Given the description of an element on the screen output the (x, y) to click on. 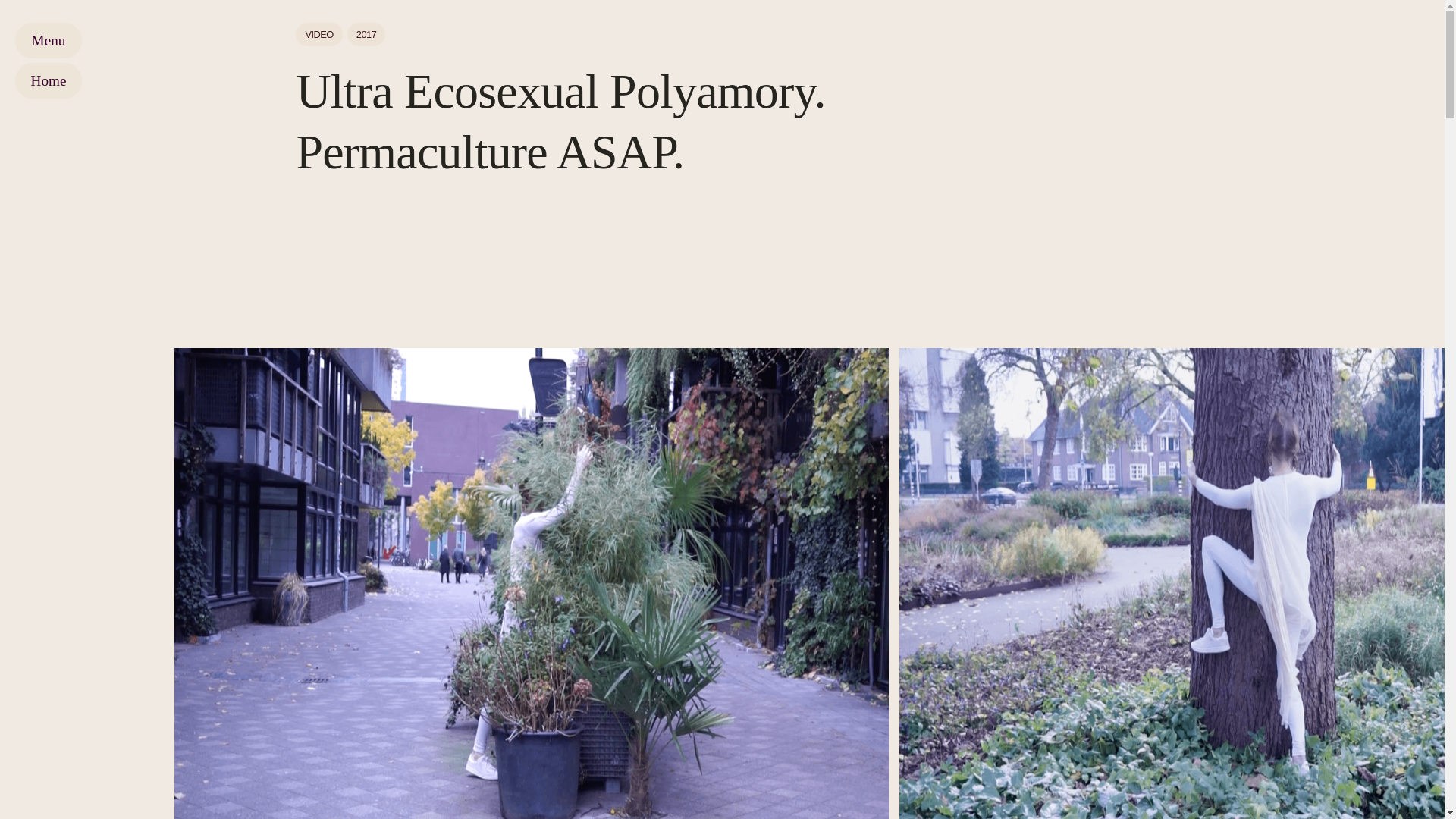
Home (47, 80)
